Given the description of an element on the screen output the (x, y) to click on. 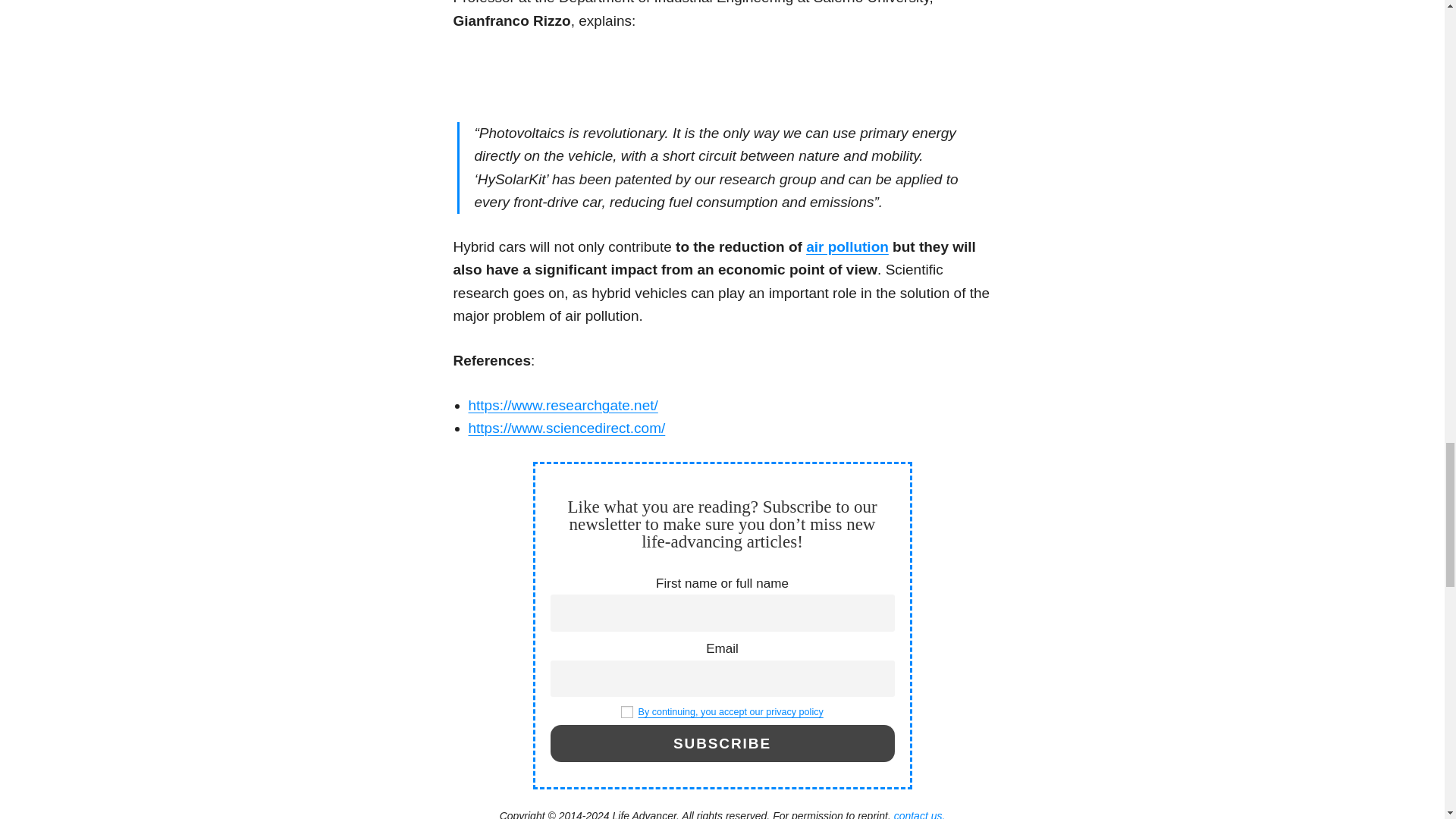
contact us (918, 814)
blog policy (729, 711)
Subscribe (722, 743)
on (627, 711)
